Given the description of an element on the screen output the (x, y) to click on. 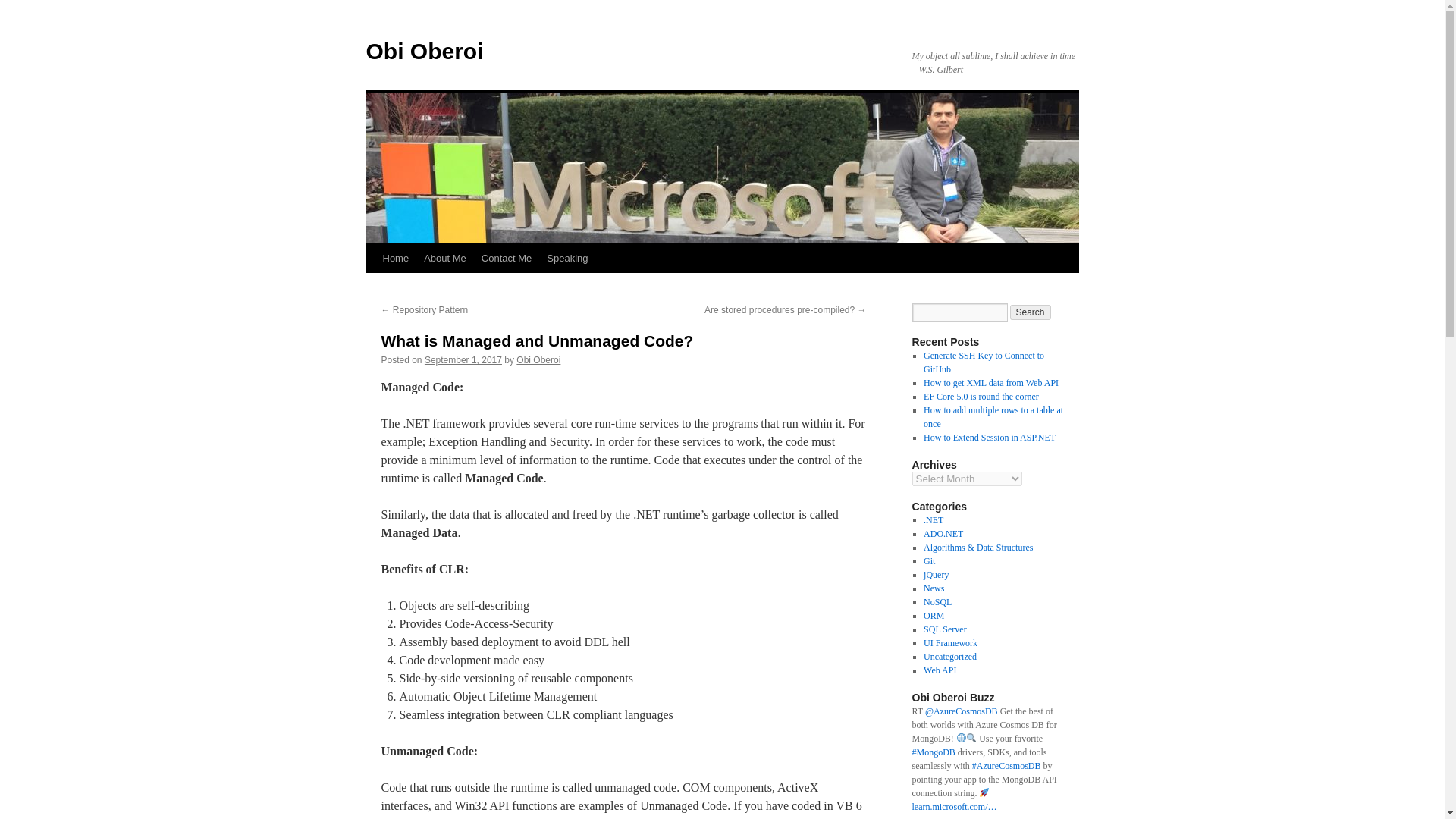
Web API (939, 670)
Speaking (566, 258)
Search (1030, 312)
.NET (933, 520)
Uncategorized (949, 656)
EF Core 5.0 is round the corner (981, 396)
ORM (933, 615)
How to Extend Session in ASP.NET (989, 437)
UI Framework (949, 643)
Search (1030, 312)
View all posts by Obi Oberoi (538, 359)
SQL Server (944, 629)
Home (395, 258)
How to get XML data from Web API (990, 382)
Azure Cosmos DB (960, 710)
